Given the description of an element on the screen output the (x, y) to click on. 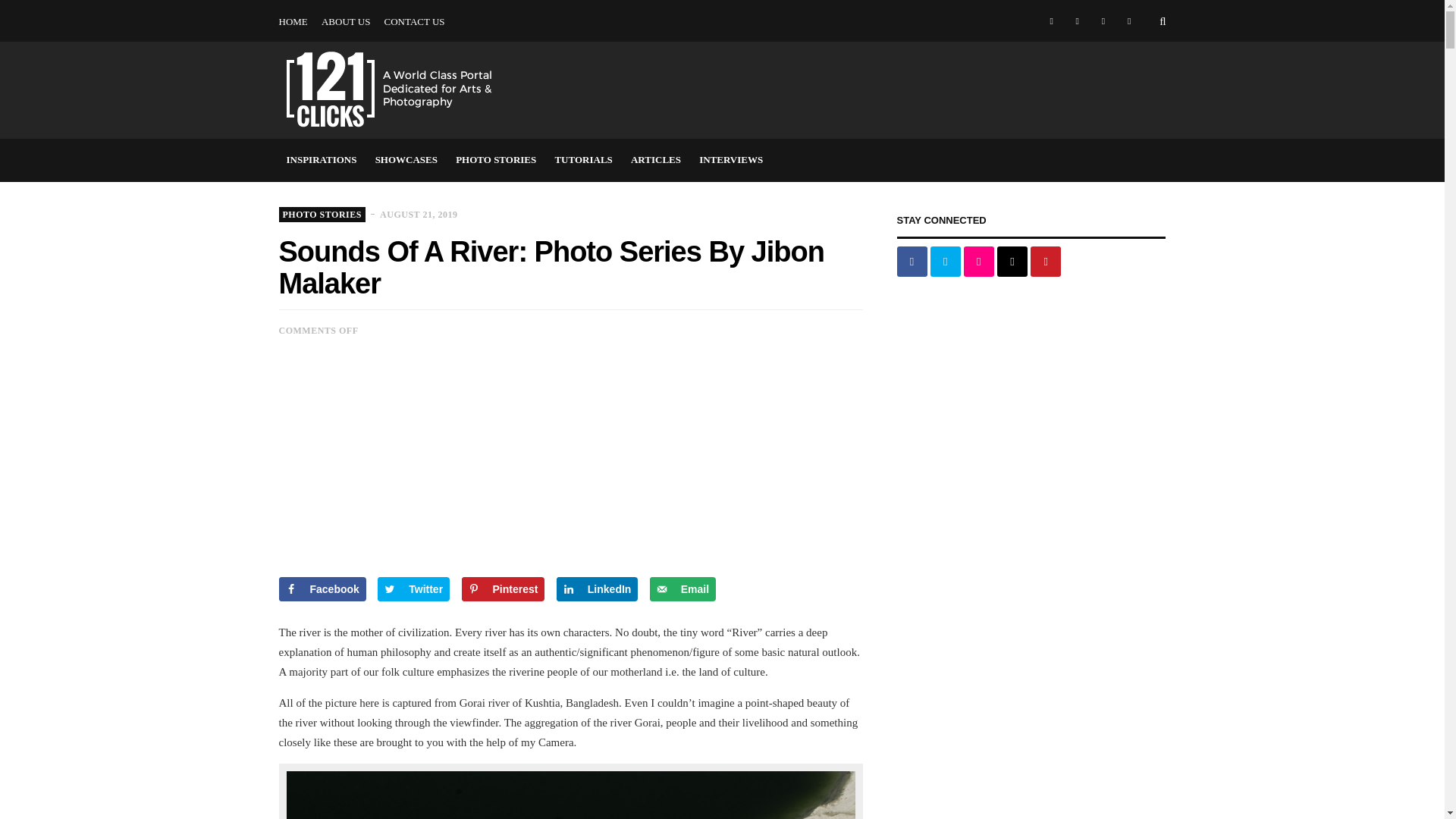
CONTACT US (413, 22)
SHOWCASES (784, 0)
Send over email (682, 589)
TUTORIALS (952, 0)
Save to Pinterest (502, 589)
Advertisement (890, 89)
Share on LinkedIn (597, 589)
Share on Facebook (322, 589)
INTERVIEWS (1091, 0)
PHOTO STORIES (495, 159)
INTERVIEWS (730, 159)
HOME (293, 22)
PHOTO STORIES (869, 0)
SHOWCASES (406, 159)
ARTICLES (655, 159)
